Given the description of an element on the screen output the (x, y) to click on. 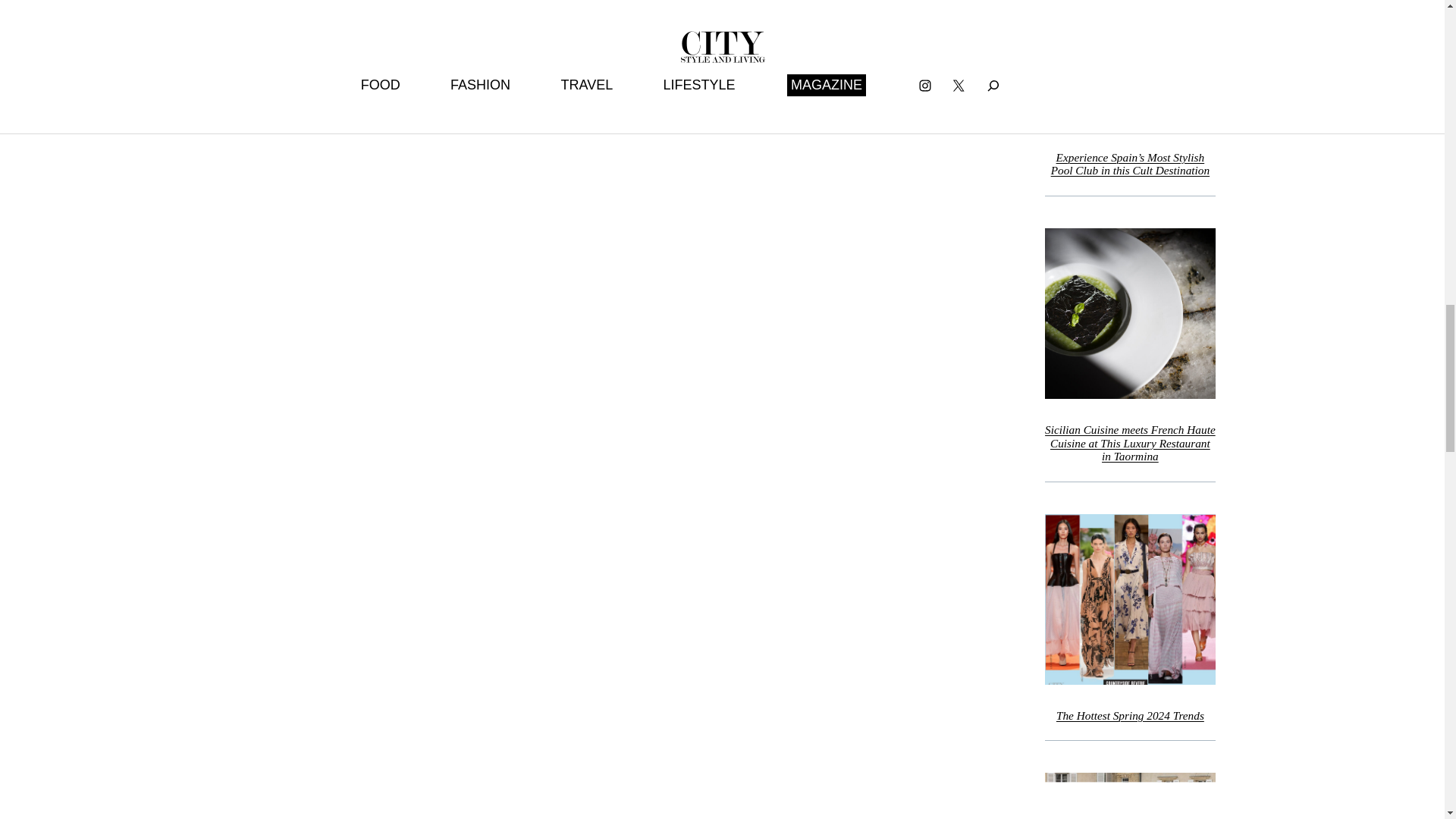
The Hottest Spring 2024 Trends (1130, 715)
